Given the description of an element on the screen output the (x, y) to click on. 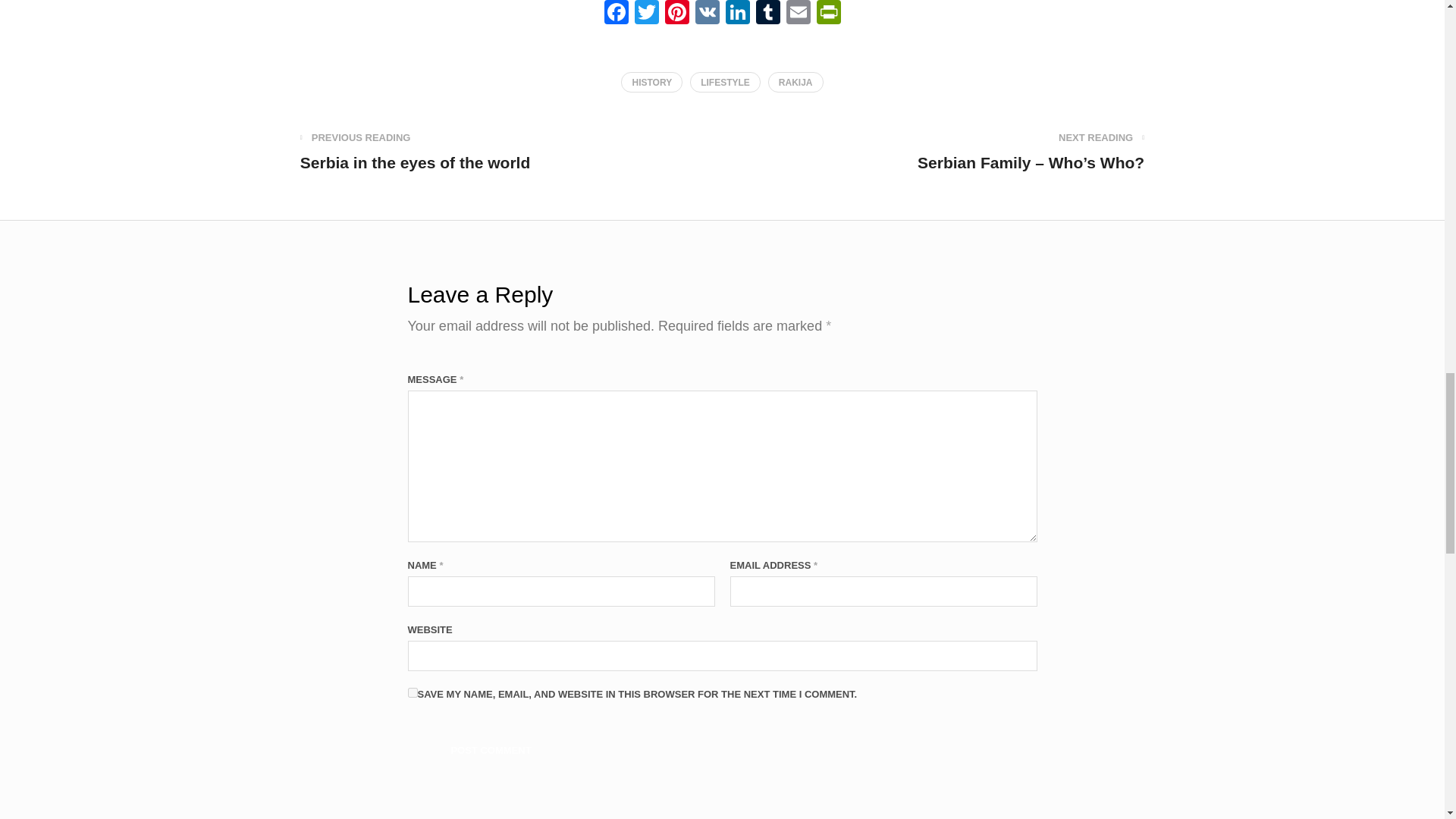
LinkedIn (737, 13)
Facebook (614, 13)
Post Comment (491, 750)
Email (797, 13)
Pinterest (676, 13)
VK (706, 13)
Twitter (645, 13)
PrintFriendly (827, 13)
yes (412, 692)
Tumblr (767, 13)
